Given the description of an element on the screen output the (x, y) to click on. 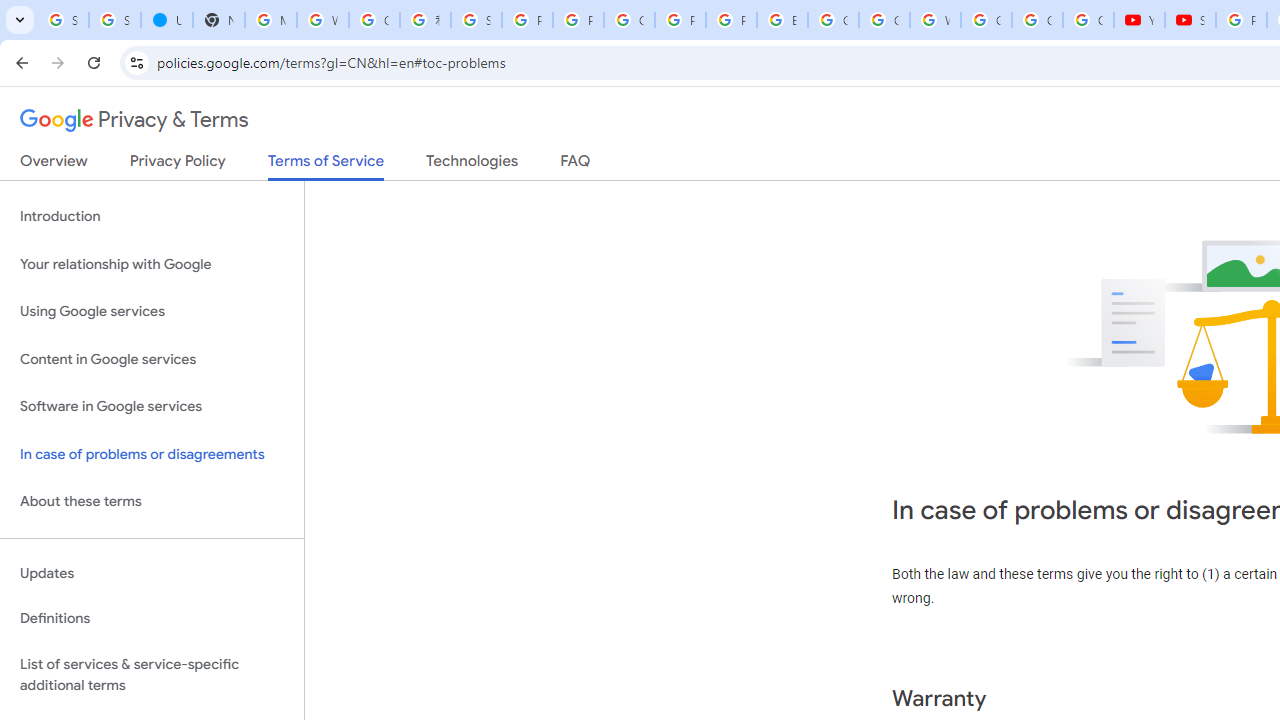
Terms of Service (326, 166)
Content in Google services (152, 358)
About these terms (152, 502)
Who is my administrator? - Google Account Help (323, 20)
Definitions (152, 619)
Edit and view right-to-left text - Google Docs Editors Help (781, 20)
Overview (54, 165)
Sign in - Google Accounts (475, 20)
New Tab (218, 20)
